Given the description of an element on the screen output the (x, y) to click on. 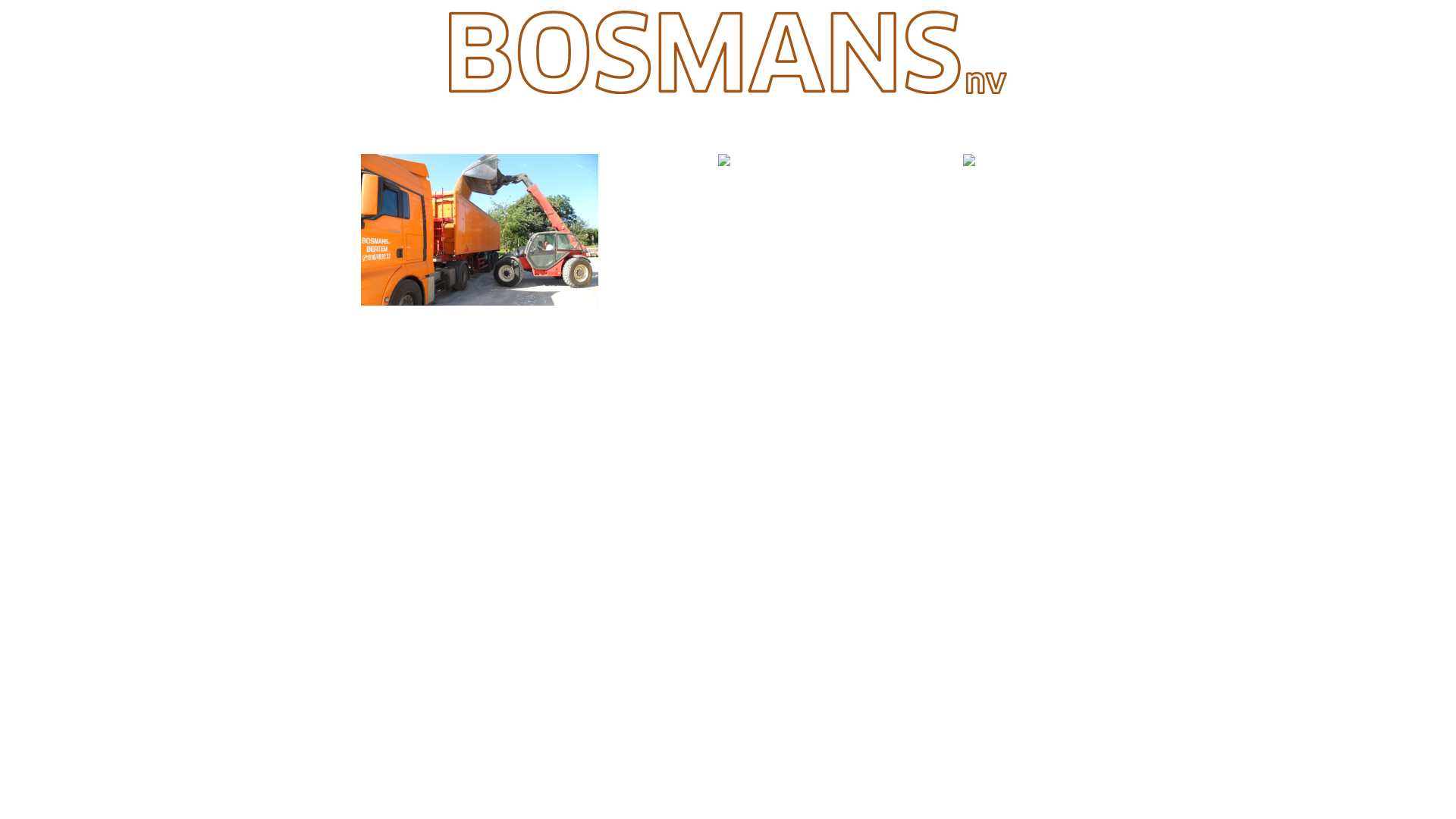
Agri Element type: text (479, 125)
Tuinaanleg Element type: text (724, 125)
  Uw partner in landbouwproducten Element type: text (479, 312)
  Tuin, dier en bakken Element type: text (969, 172)
Consumenten Element type: text (968, 125)
   Element type: text (647, 181)
